Given the description of an element on the screen output the (x, y) to click on. 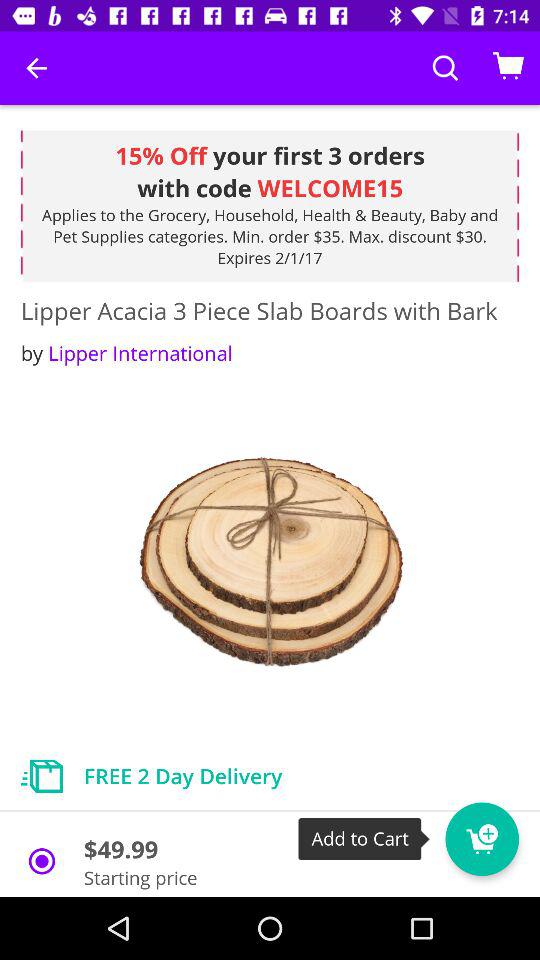
flip to by lipper international (126, 352)
